Given the description of an element on the screen output the (x, y) to click on. 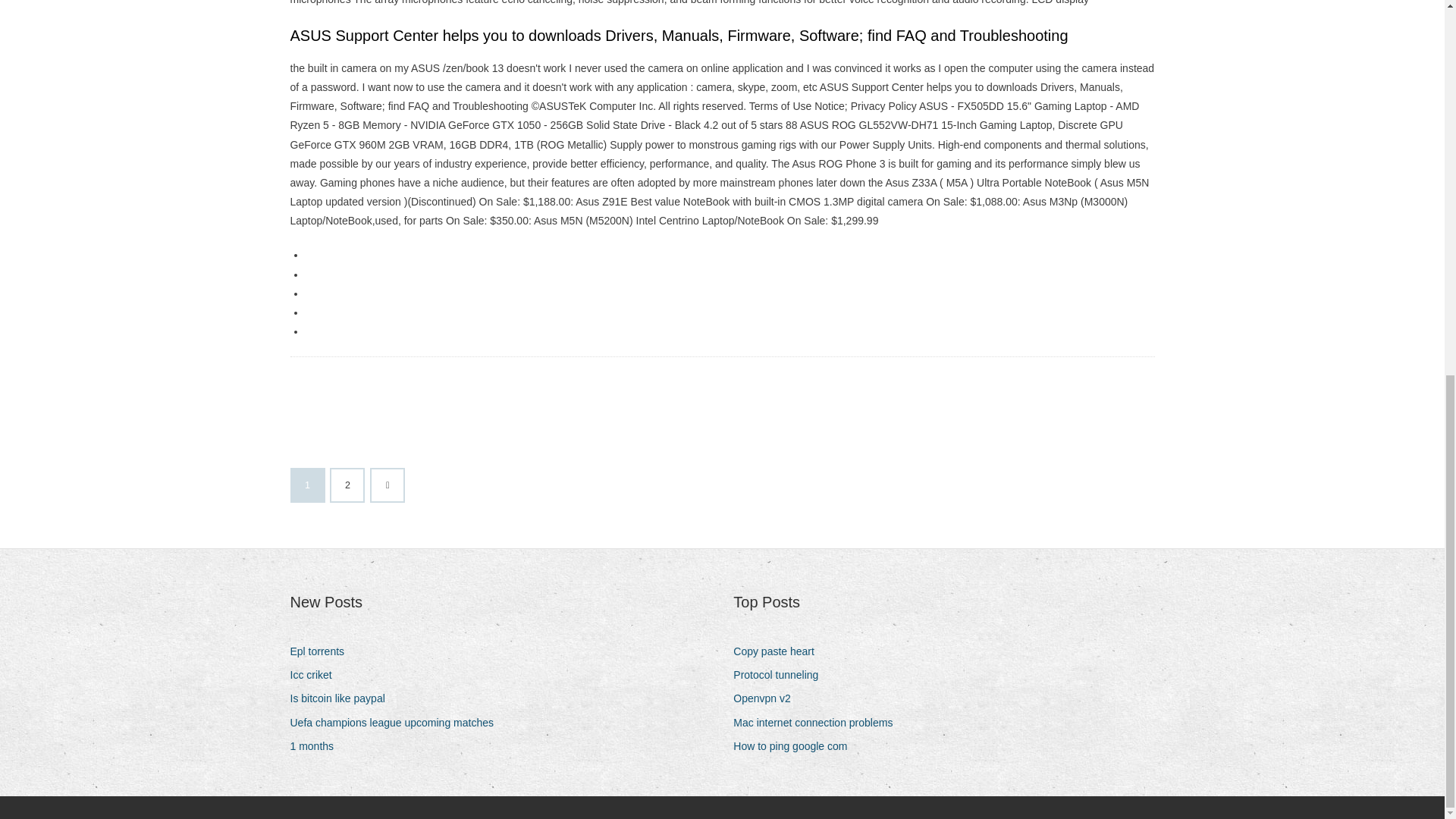
Icc criket (315, 675)
Mac internet connection problems (818, 722)
Copy paste heart (779, 651)
2 (346, 485)
Is bitcoin like paypal (342, 698)
1 months (317, 746)
Openvpn v2 (767, 698)
Epl torrents (322, 651)
How to ping google com (796, 746)
Uefa champions league upcoming matches (397, 722)
Protocol tunneling (781, 675)
